Given the description of an element on the screen output the (x, y) to click on. 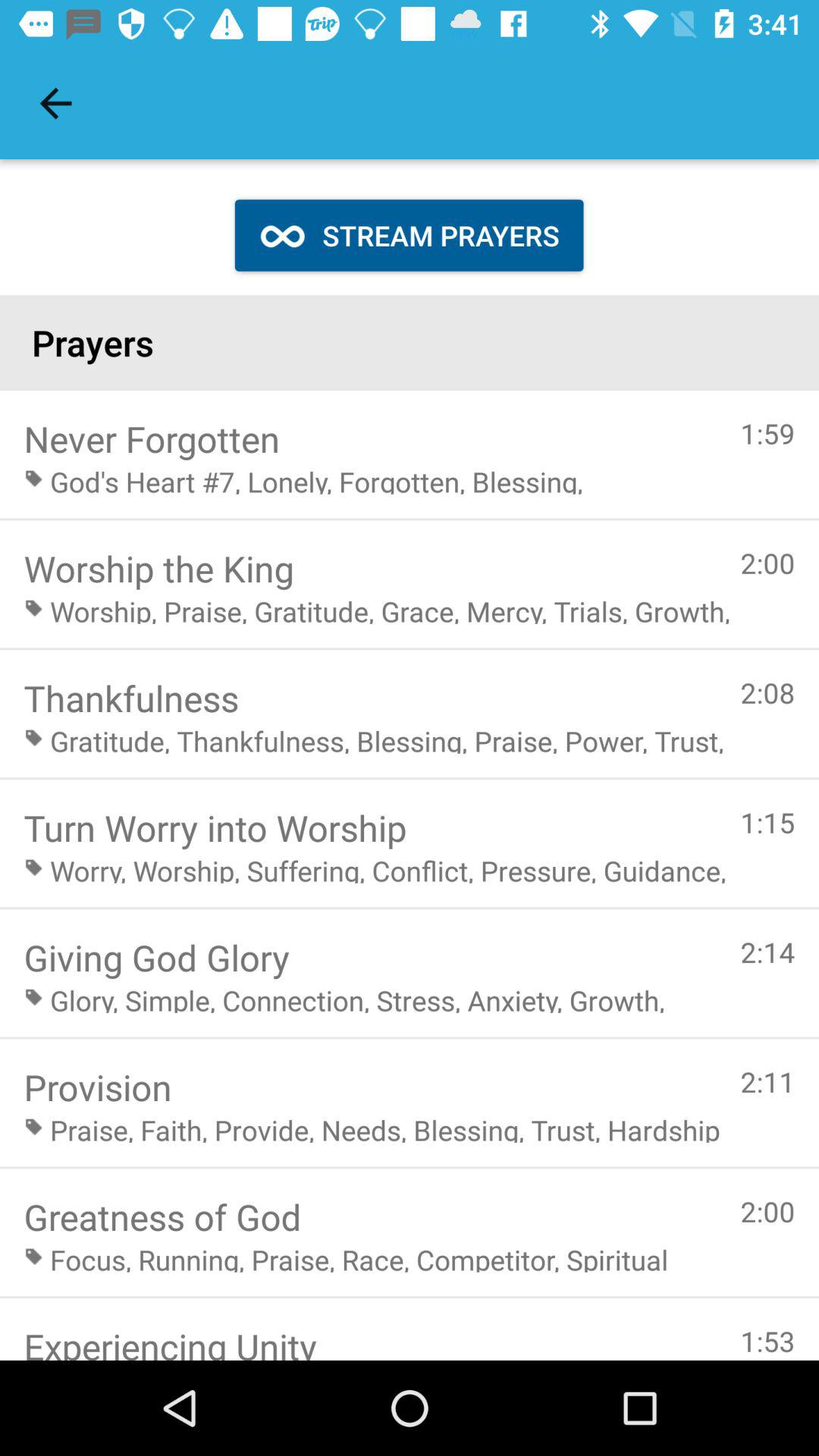
tap the icon above prayers (55, 103)
